Given the description of an element on the screen output the (x, y) to click on. 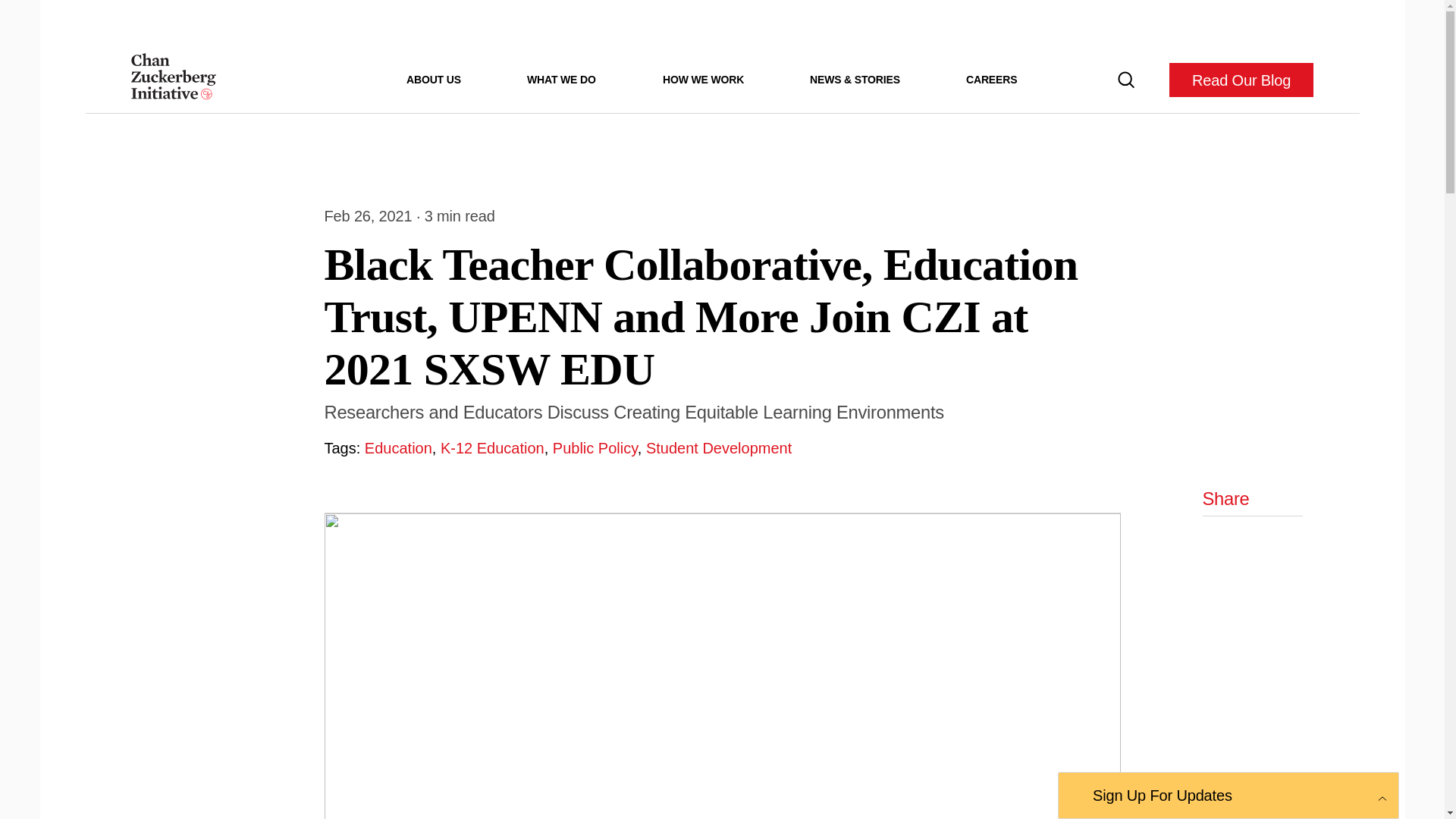
New Homepage (173, 79)
ABOUT US (433, 78)
HOW WE WORK (703, 78)
WHAT WE DO (561, 78)
